Given the description of an element on the screen output the (x, y) to click on. 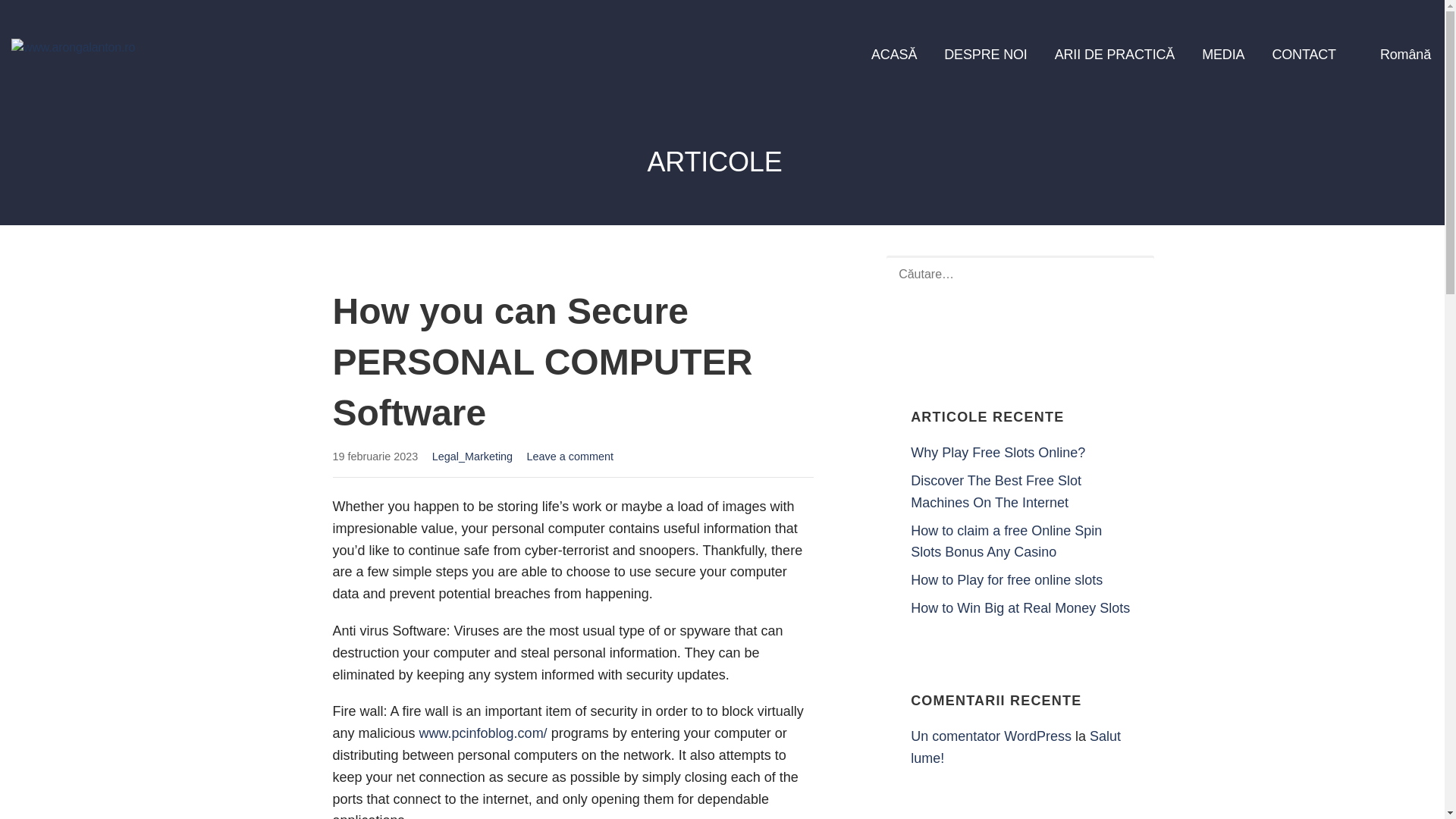
www.arongalanton.ro (118, 86)
DESPRE NOI (984, 55)
Leave a comment (569, 456)
CONTACT (1303, 55)
MEDIA (1223, 55)
